Given the description of an element on the screen output the (x, y) to click on. 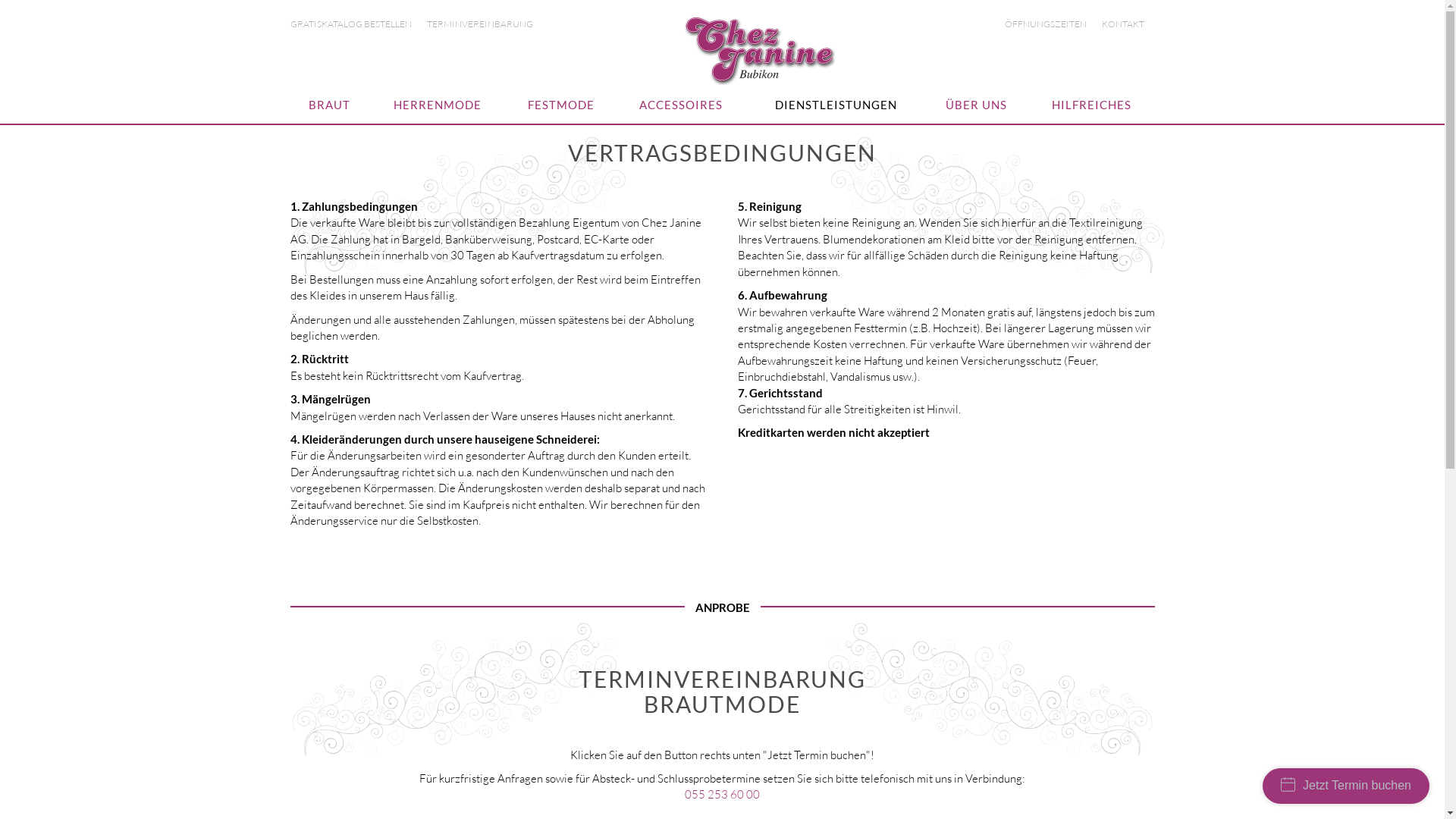
GRATISKATALOG BESTELLEN Element type: text (355, 23)
TERMINVEREINBARUNG Element type: text (484, 23)
Jetzt Termin buchen Element type: text (1345, 785)
HERRENMODE Element type: text (437, 104)
BRAUT Element type: text (329, 104)
KONTAKT Element type: text (1127, 23)
HILFREICHES Element type: text (1091, 104)
DIENSTLEISTUNGEN Element type: text (835, 104)
Braut- und Festmode Chez Janine Element type: hover (758, 49)
055 253 60 00 Element type: text (721, 794)
ACCESSOIRES Element type: text (680, 104)
FESTMODE Element type: text (560, 104)
